Given the description of an element on the screen output the (x, y) to click on. 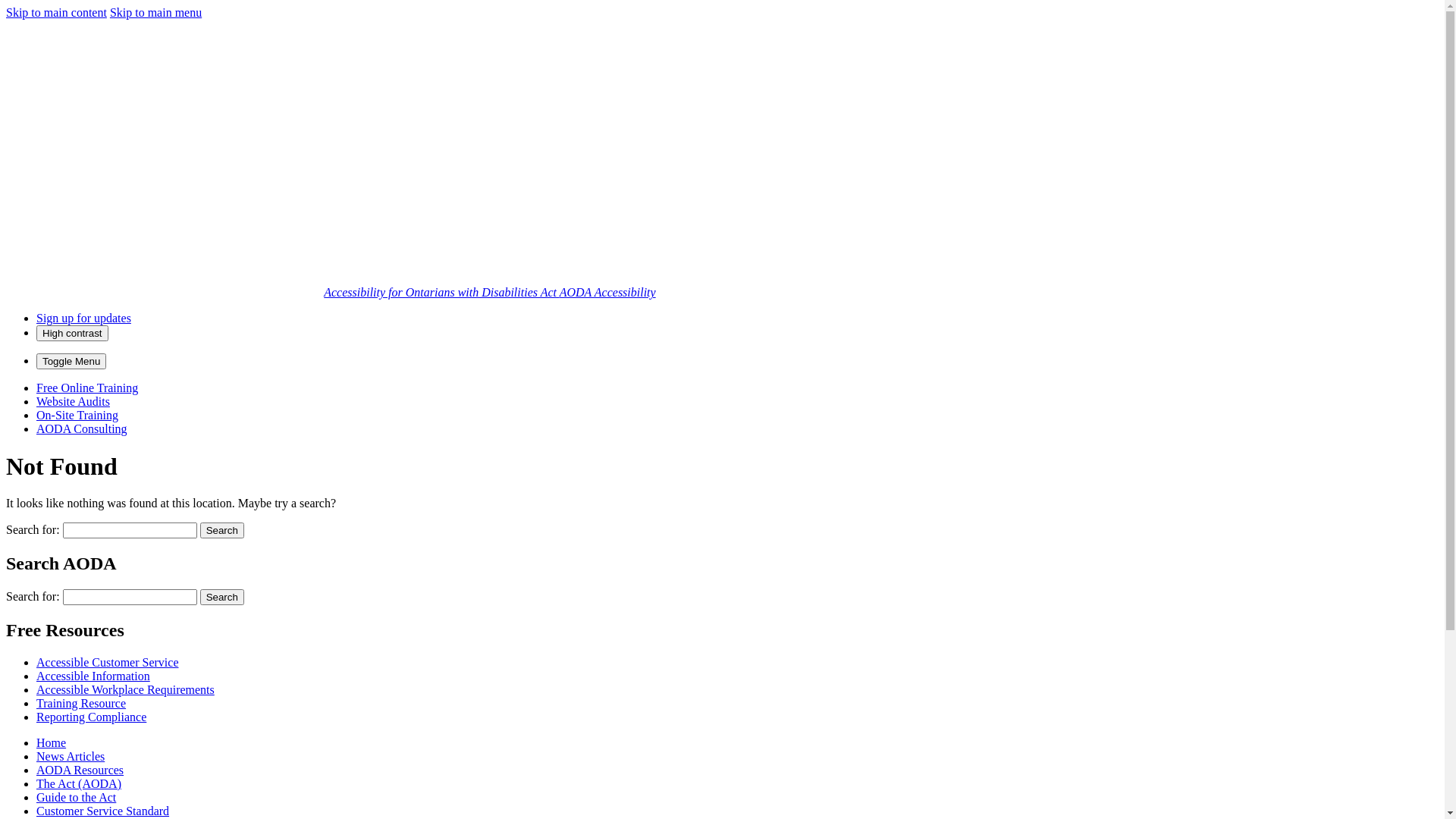
Sign up for updates Element type: text (83, 317)
Guide to the Act Element type: text (76, 796)
Free Online Training Element type: text (87, 387)
Search Element type: text (222, 530)
On-Site Training Element type: text (77, 414)
Accessible Customer Service Element type: text (107, 661)
Home Element type: text (50, 742)
AODA Resources Element type: text (79, 769)
Skip to main content Element type: text (56, 12)
Accessible Information Element type: text (93, 675)
Toggle Menu Element type: text (71, 361)
Search Element type: text (222, 597)
Website Audits Element type: text (72, 401)
The Act (AODA) Element type: text (78, 783)
Skip to main menu Element type: text (155, 12)
AODA Consulting Element type: text (81, 428)
News Articles Element type: text (70, 755)
AODA Accessibility Element type: text (607, 291)
High contrast Element type: text (72, 333)
Customer Service Standard Element type: text (102, 810)
Accessibility for Ontarians with Disabilities Act Element type: text (441, 291)
Reporting Compliance Element type: text (91, 716)
Training Resource Element type: text (80, 702)
Accessible Workplace Requirements Element type: text (125, 689)
